Given the description of an element on the screen output the (x, y) to click on. 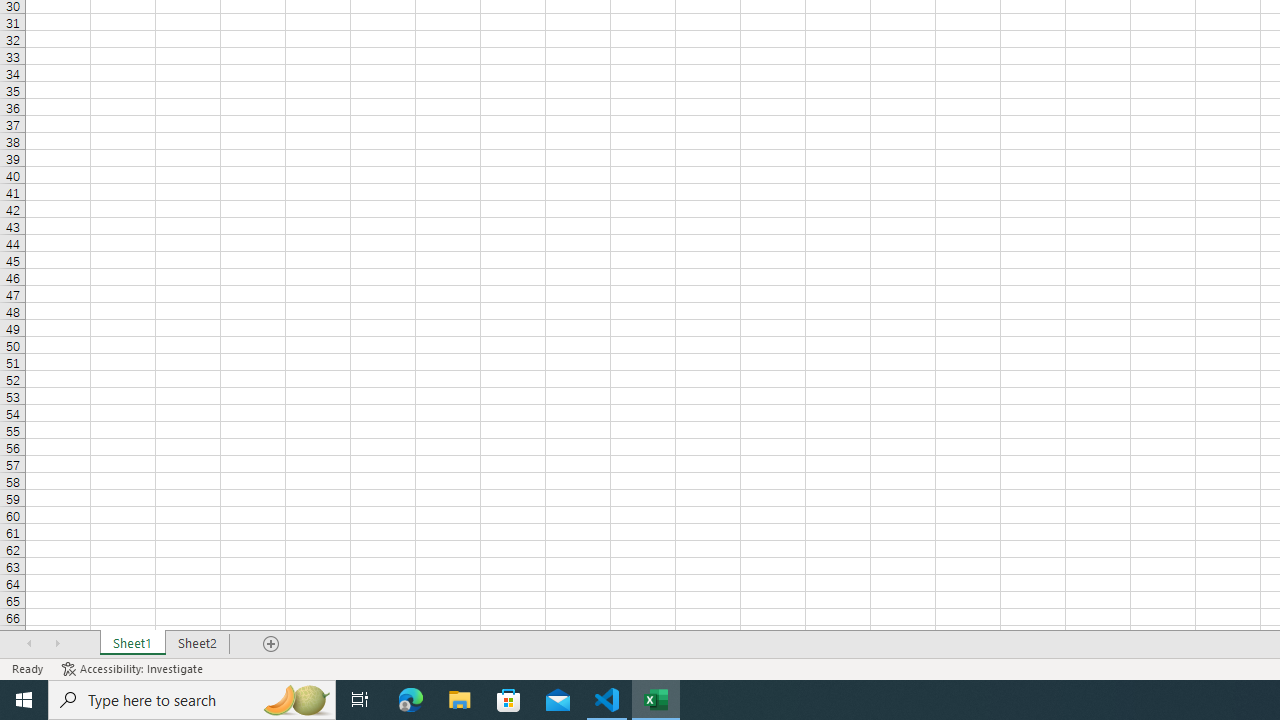
Accessibility Checker Accessibility: Investigate (134, 668)
Sheet2 (197, 644)
Sheet1 (132, 644)
Scroll Right (57, 644)
Scroll Left (29, 644)
Add Sheet (271, 644)
